Given the description of an element on the screen output the (x, y) to click on. 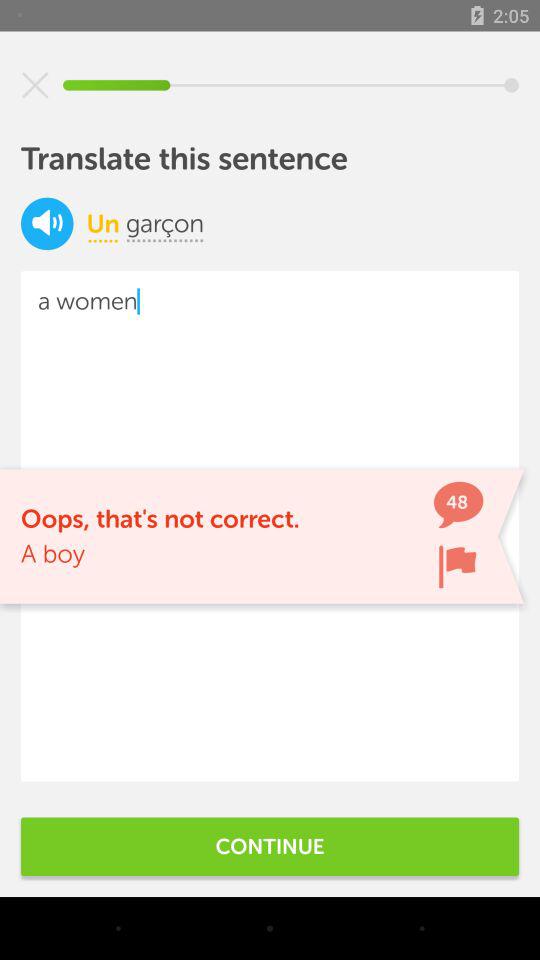
jump to continue item (270, 846)
